Given the description of an element on the screen output the (x, y) to click on. 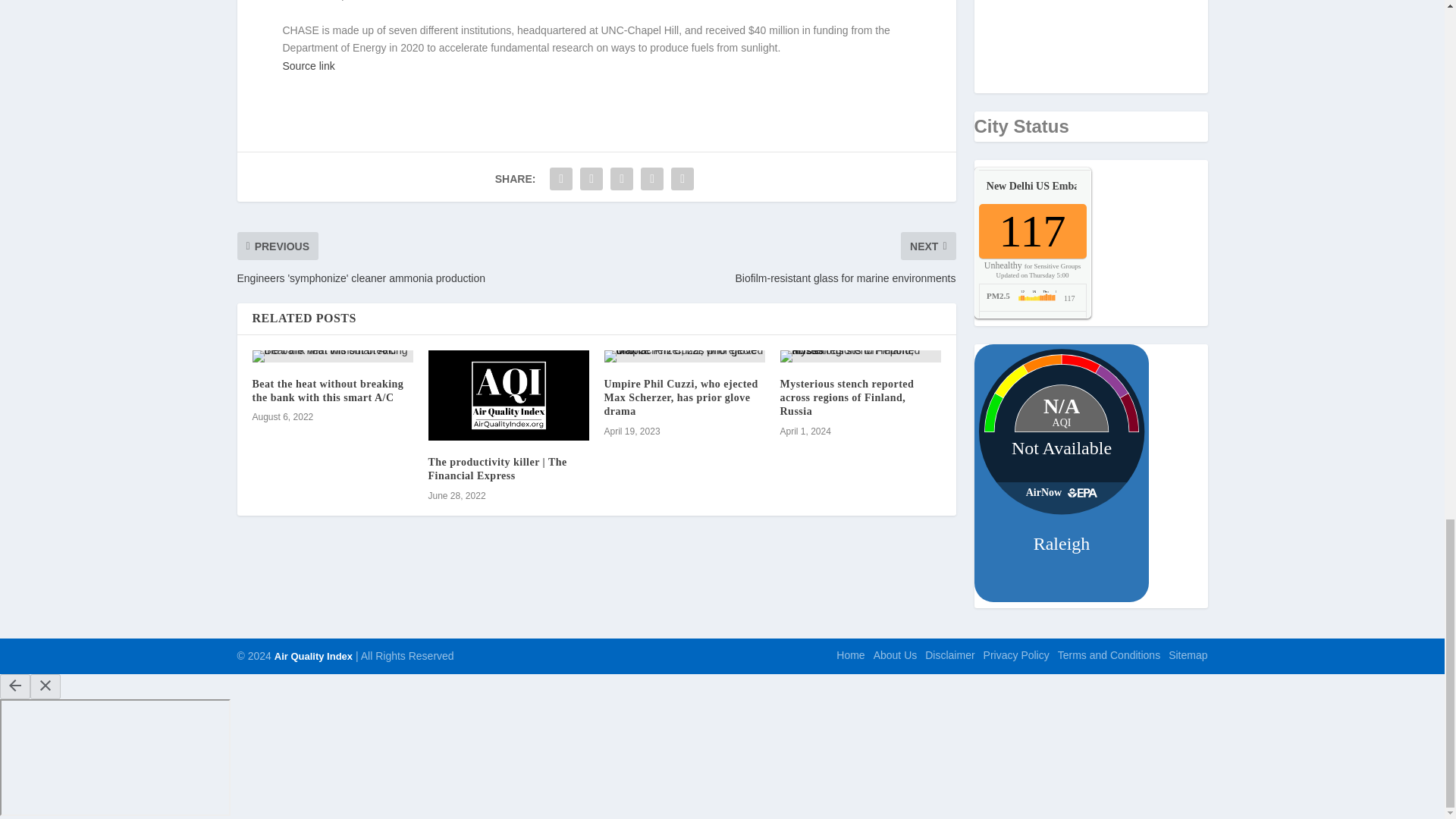
Source link (308, 65)
Mysterious stench reported across regions of Finland, Russia (846, 397)
